Given the description of an element on the screen output the (x, y) to click on. 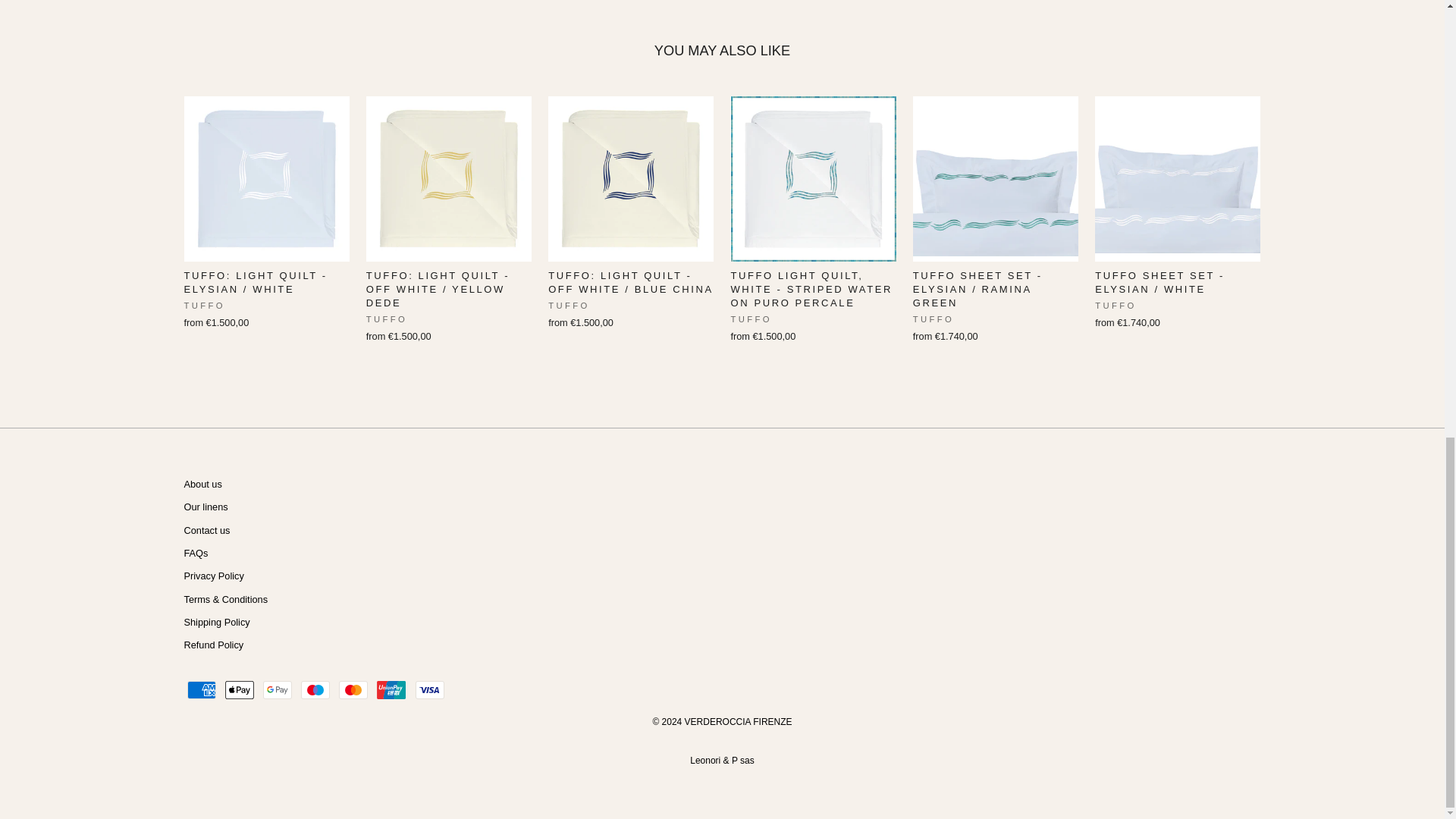
Apple Pay (239, 689)
Google Pay (277, 689)
American Express (200, 689)
Union Pay (391, 689)
Visa (429, 689)
Mastercard (353, 689)
Maestro (315, 689)
